Given the description of an element on the screen output the (x, y) to click on. 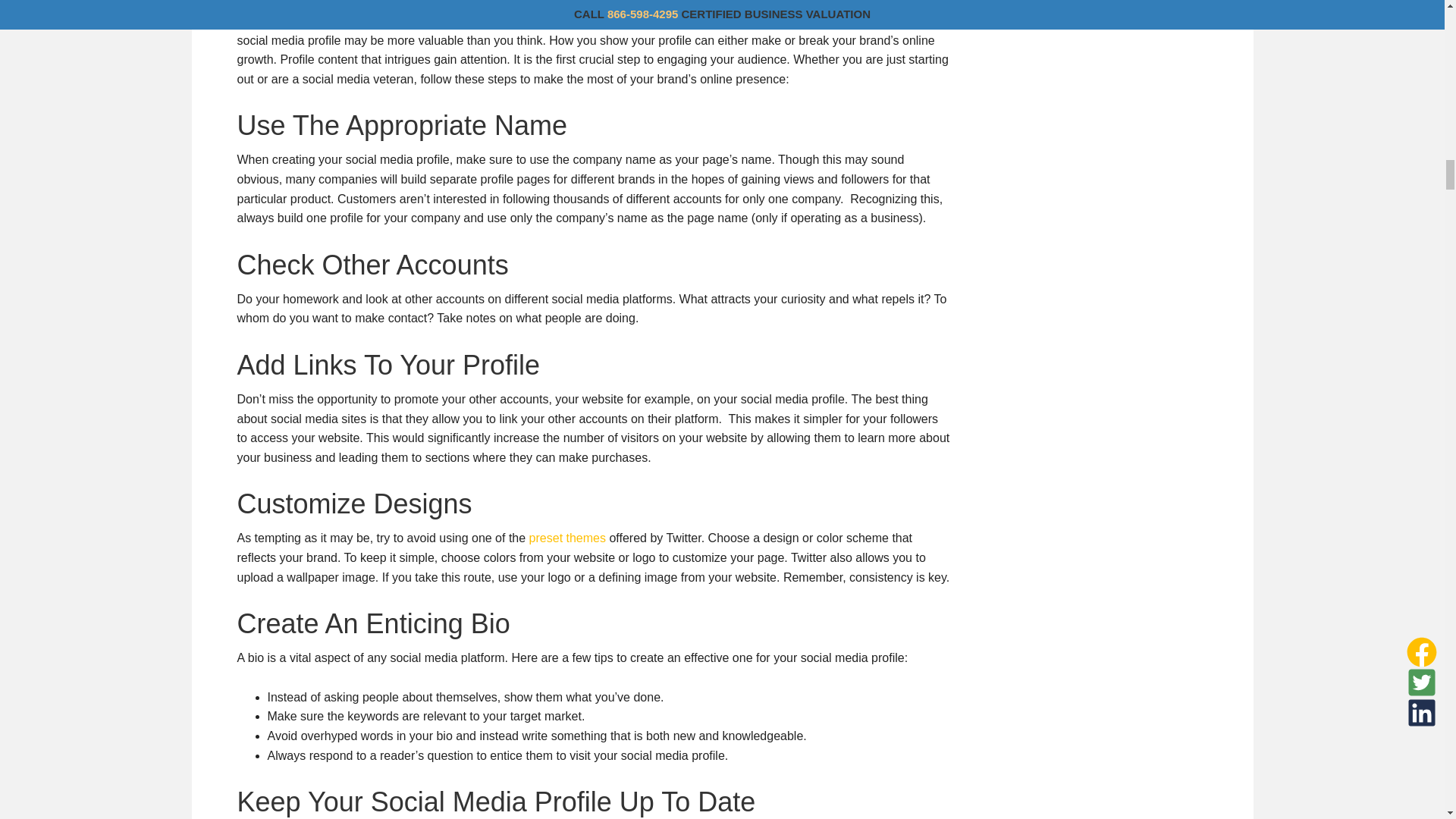
preset themes (565, 537)
